Given the description of an element on the screen output the (x, y) to click on. 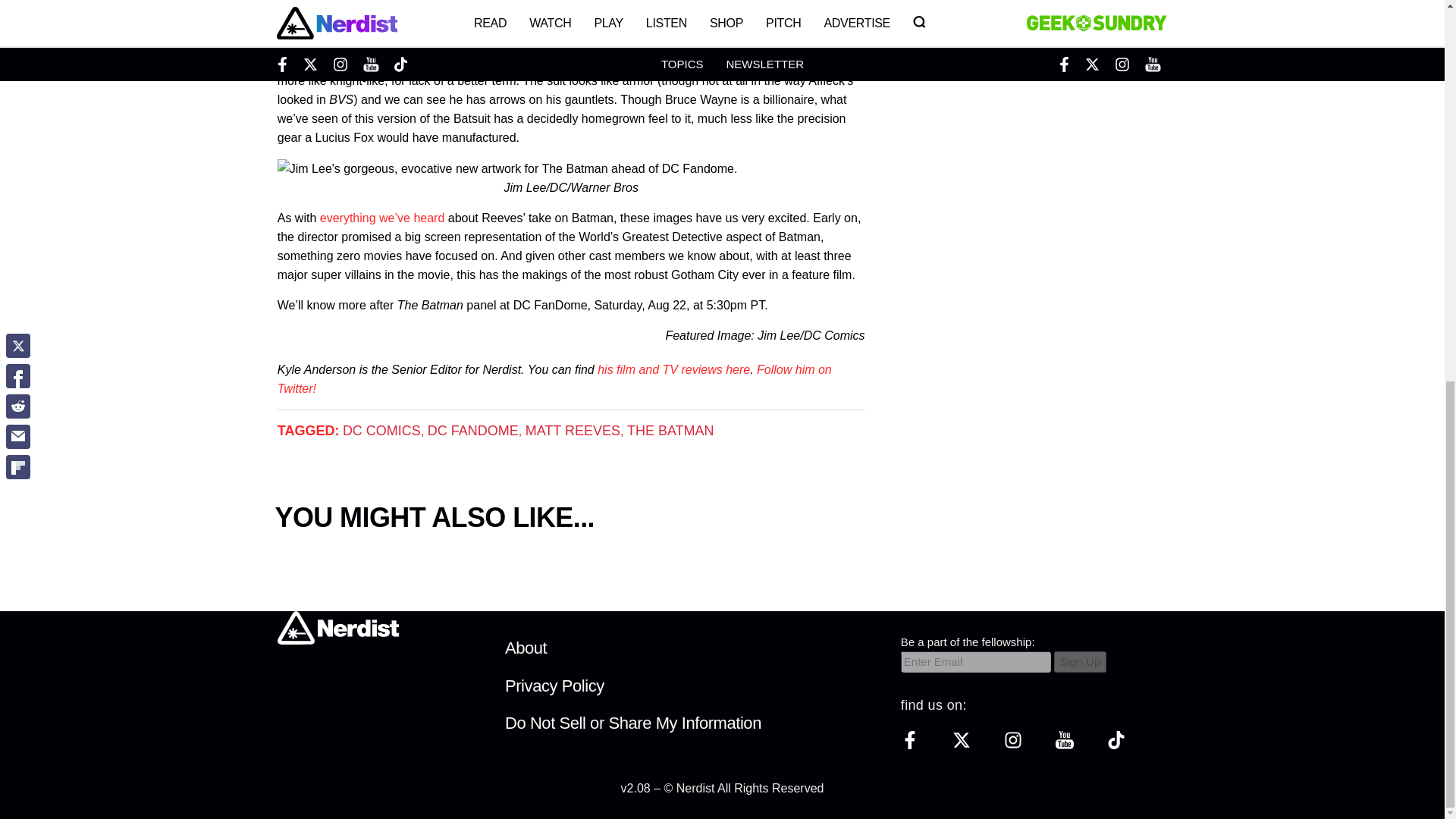
Follow him on Twitter! (554, 378)
his film and TV reviews here (672, 369)
Sign Up (1080, 662)
